Given the description of an element on the screen output the (x, y) to click on. 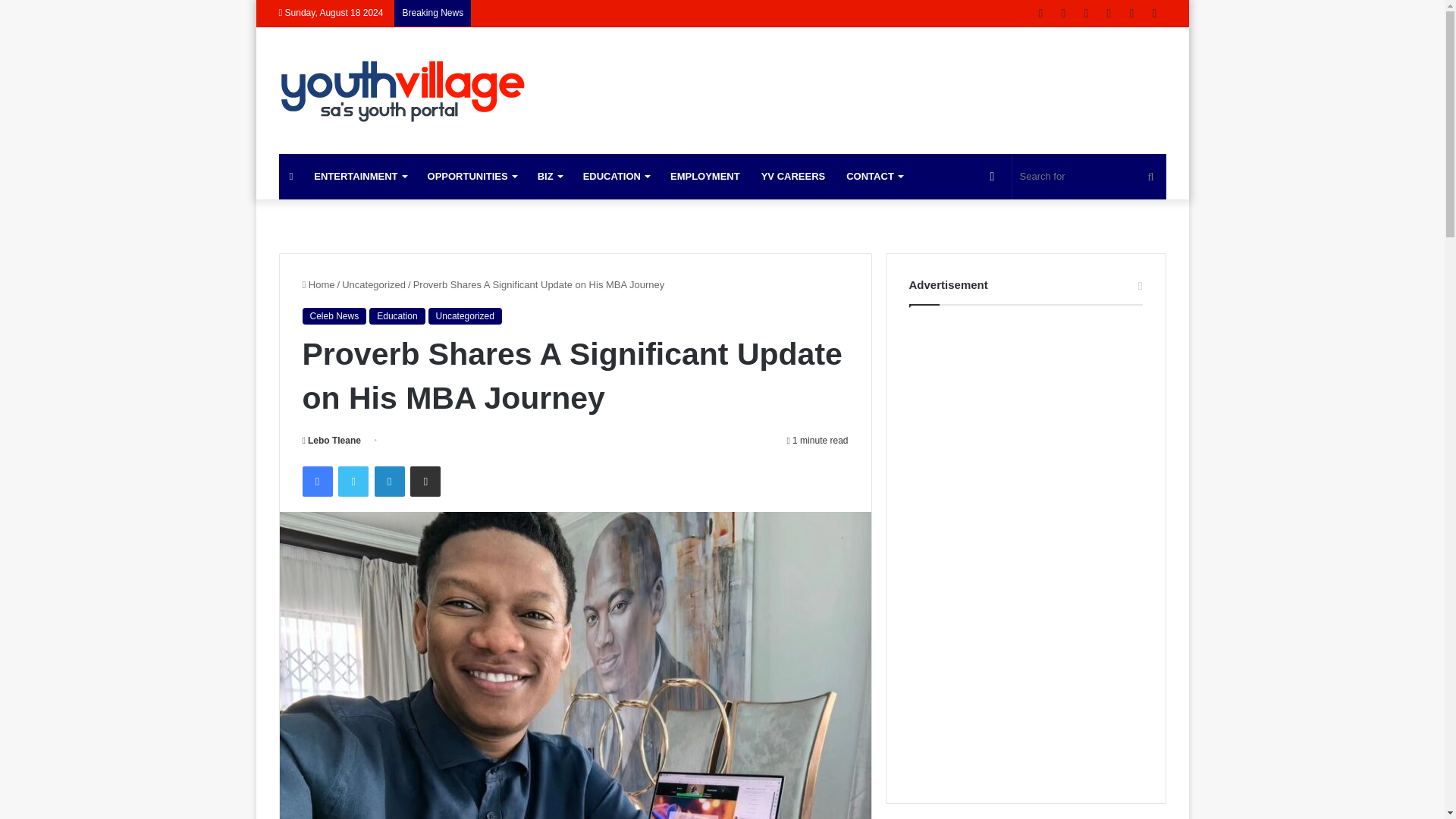
LinkedIn (389, 481)
OPPORTUNITIES (471, 176)
EDUCATION (615, 176)
BIZ (549, 176)
Youth Village (404, 90)
ENTERTAINMENT (359, 176)
Facebook (316, 481)
Lebo Tleane (330, 439)
Search for (1088, 176)
Twitter (352, 481)
